Given the description of an element on the screen output the (x, y) to click on. 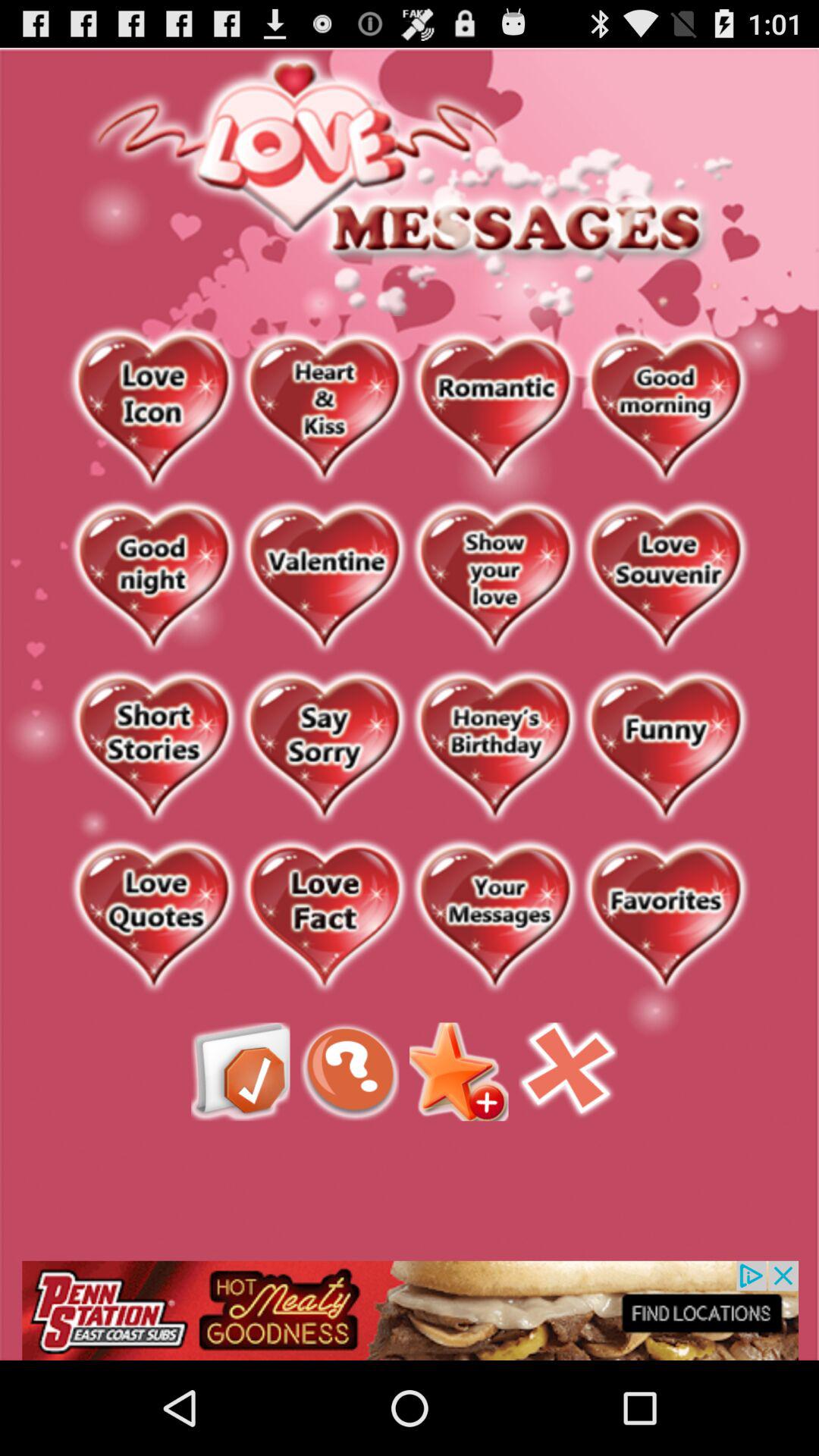
open funny love messages (665, 747)
